Given the description of an element on the screen output the (x, y) to click on. 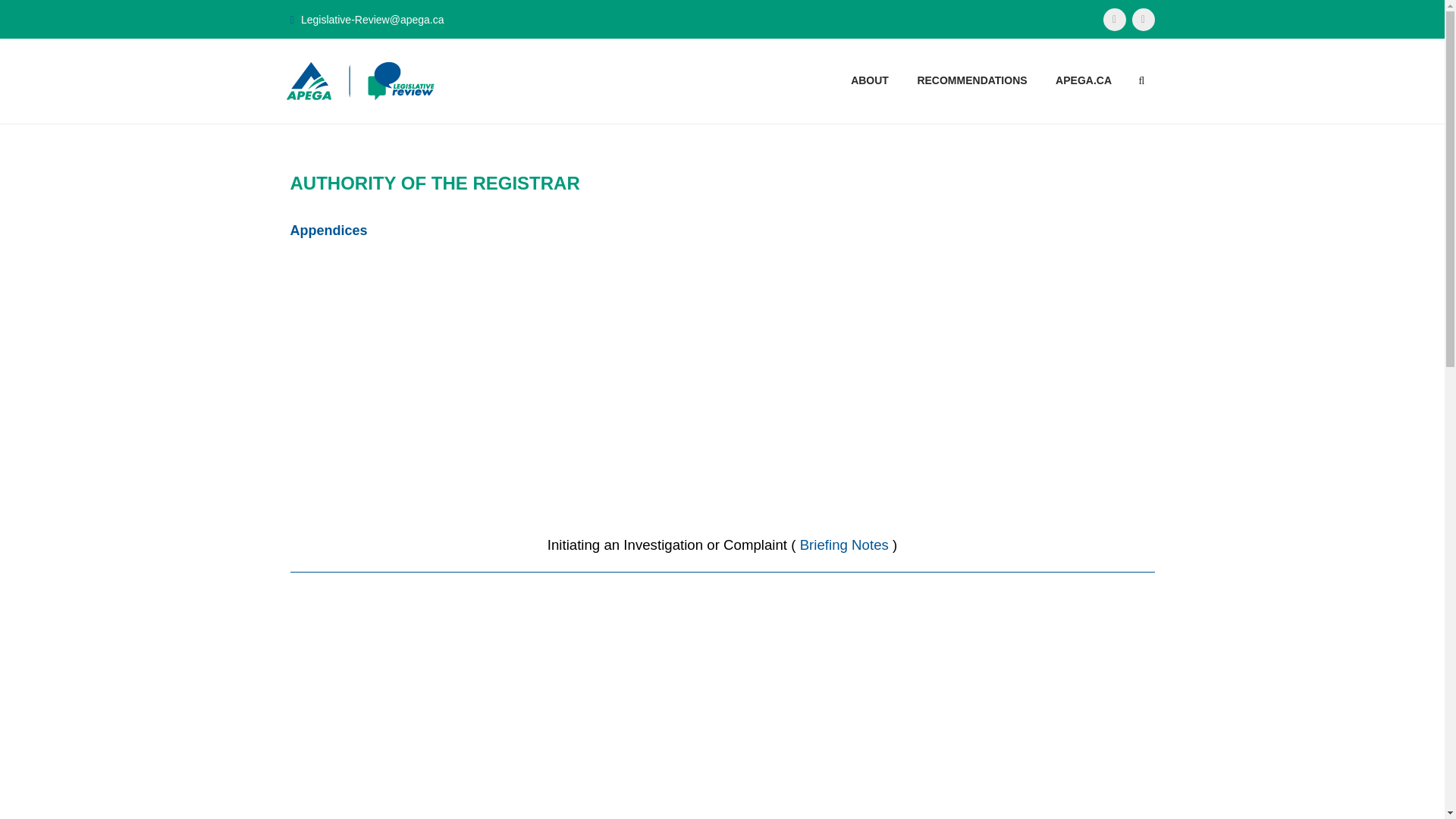
Appendices Element type: text (328, 230)
Briefing Notes Element type: text (844, 544)
APEGA.CA Element type: text (1083, 80)
Apega Legislative Review Element type: hover (360, 81)
RECOMMENDATIONS Element type: text (971, 80)
ABOUT Element type: text (869, 80)
Legislative-Review@apega.ca Element type: text (372, 19)
JoomlaWorks AllVideos Player Element type: hover (721, 386)
